Given the description of an element on the screen output the (x, y) to click on. 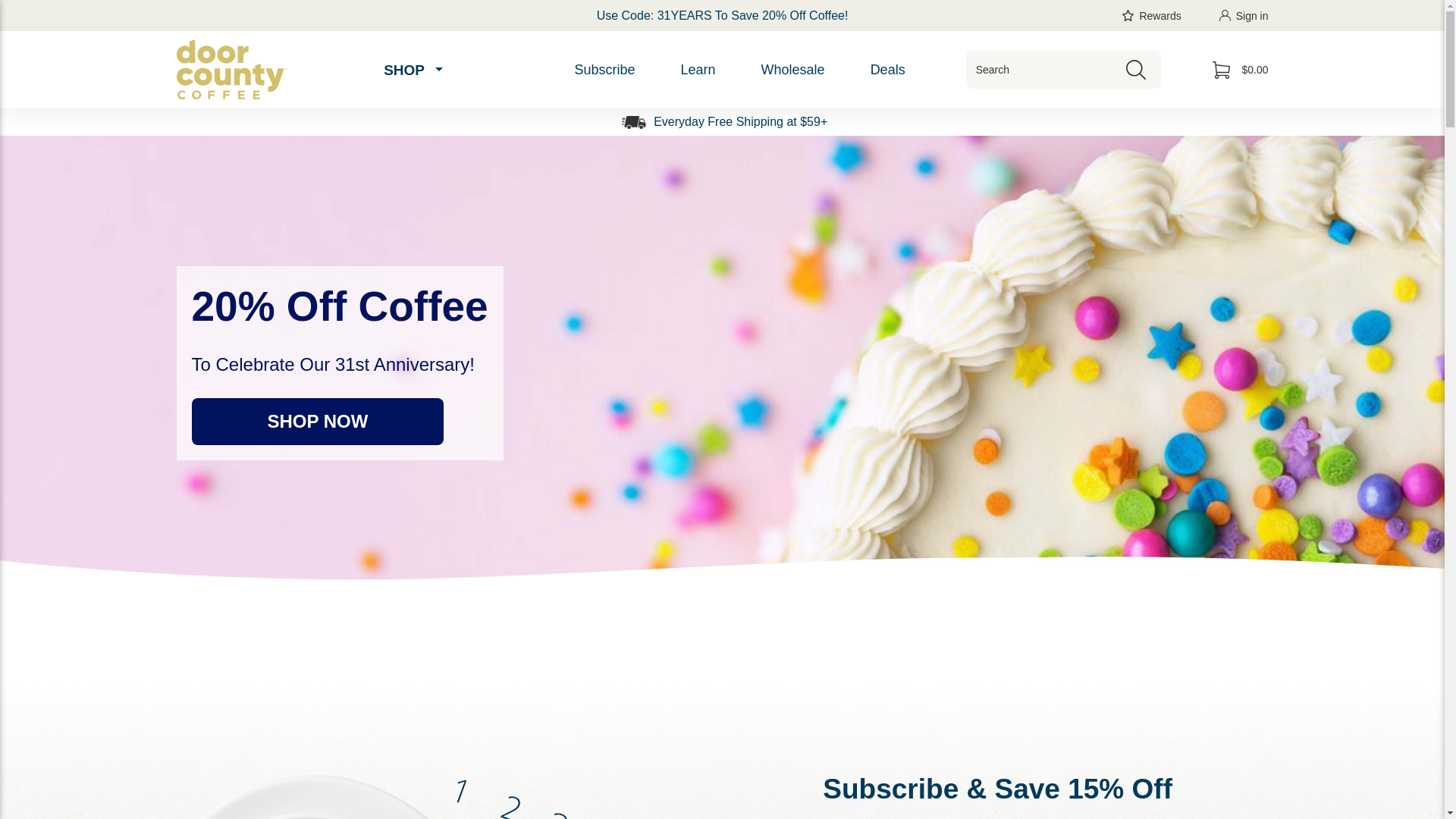
SHOP (412, 69)
Visit our wholesale site (792, 69)
Rewards (1151, 14)
Learn more about Door County Coffee (698, 69)
Sign in (1244, 14)
Learn about our subscribe and save program (604, 69)
Check out our deals and offers (887, 69)
